Given the description of an element on the screen output the (x, y) to click on. 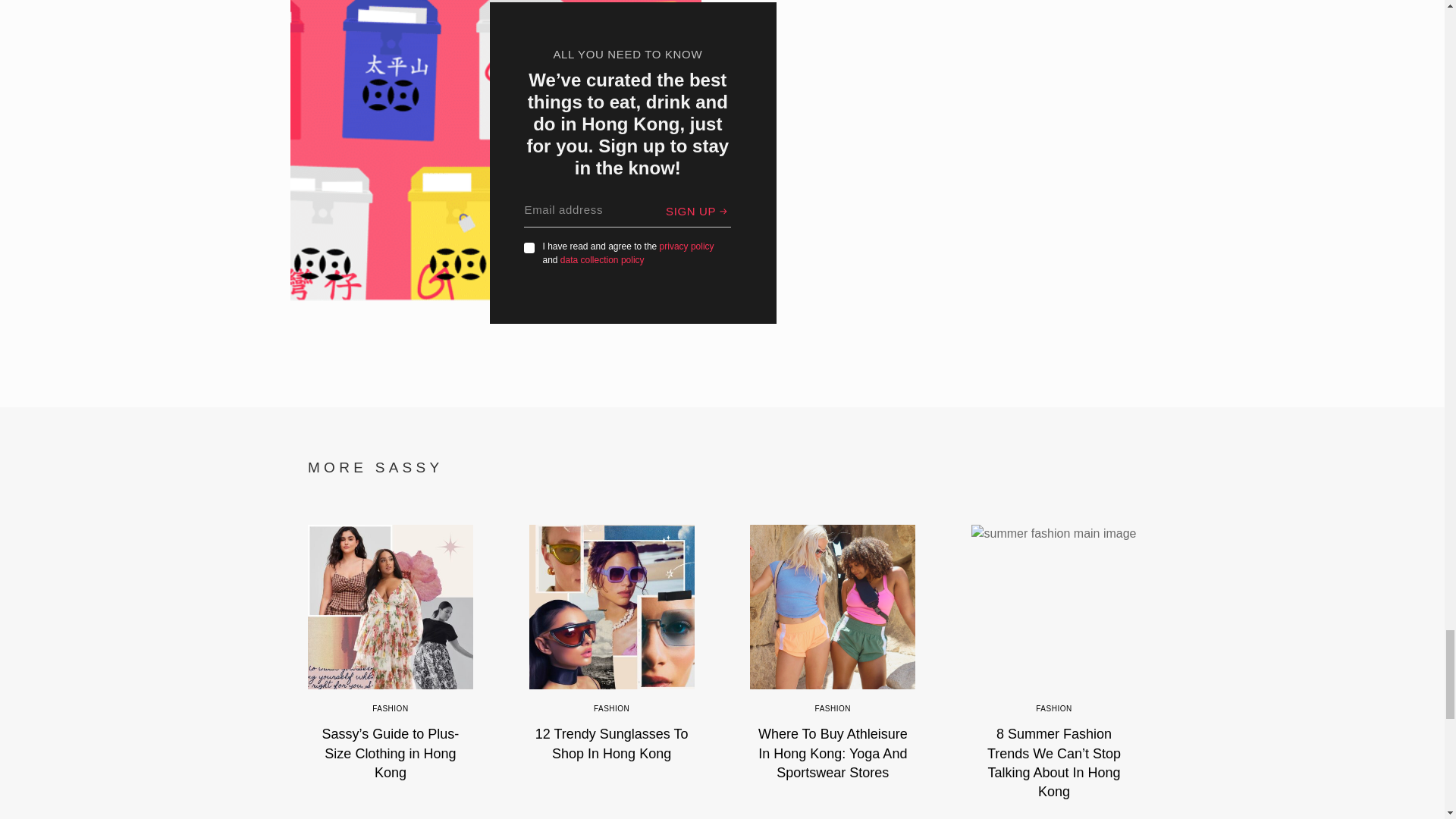
Sign Up (697, 210)
on (529, 247)
